Given the description of an element on the screen output the (x, y) to click on. 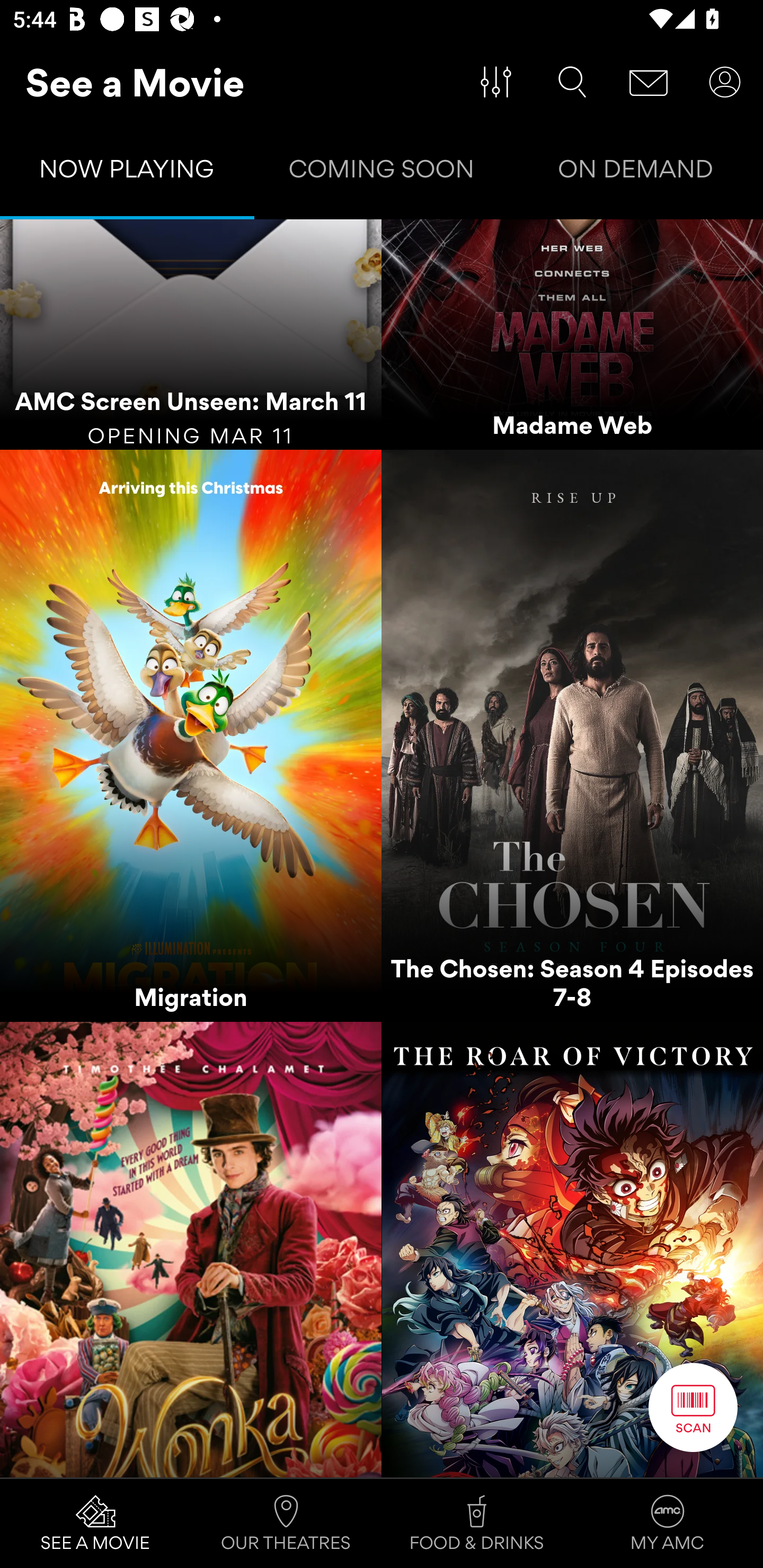
Filter Movies (495, 82)
Search (572, 82)
Message Center (648, 82)
User Account (724, 82)
NOW PLAYING
Tab 1 of 3 (127, 173)
COMING SOON
Tab 2 of 3 (381, 173)
ON DEMAND
Tab 3 of 3 (635, 173)
AMC Screen Unseen: March 11
OPENING MAR 11 (190, 334)
Madame Web (572, 334)
Migration (190, 736)
The Chosen: Season 4 Episodes 7-8 (572, 736)
Wonka (190, 1249)
Scan Button (692, 1406)
SEE A MOVIE
Tab 1 of 4 (95, 1523)
OUR THEATRES
Tab 2 of 4 (285, 1523)
FOOD & DRINKS
Tab 3 of 4 (476, 1523)
MY AMC
Tab 4 of 4 (667, 1523)
